Given the description of an element on the screen output the (x, y) to click on. 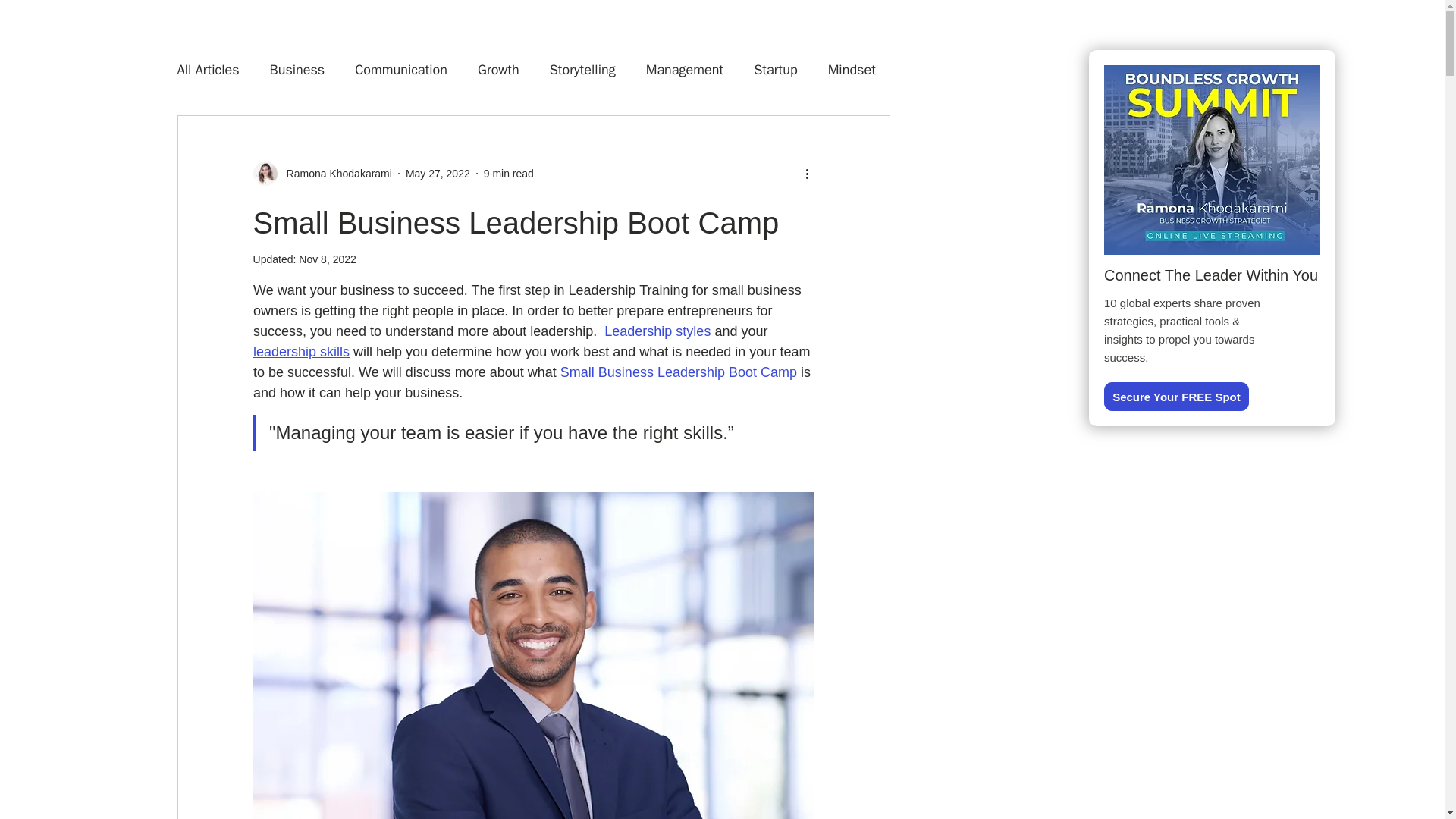
Ramona Khodakarami (322, 173)
Growth (498, 69)
Management (684, 69)
Ramona Khodakarami (334, 172)
Nov 8, 2022 (327, 259)
Business (296, 69)
All Articles (208, 69)
Small Business Leadership Boot Camp (677, 372)
Storytelling (582, 69)
leadership skills (301, 351)
Startup (775, 69)
9 min read (508, 173)
Communication (400, 69)
May 27, 2022 (438, 173)
Leadership styles (657, 331)
